Given the description of an element on the screen output the (x, y) to click on. 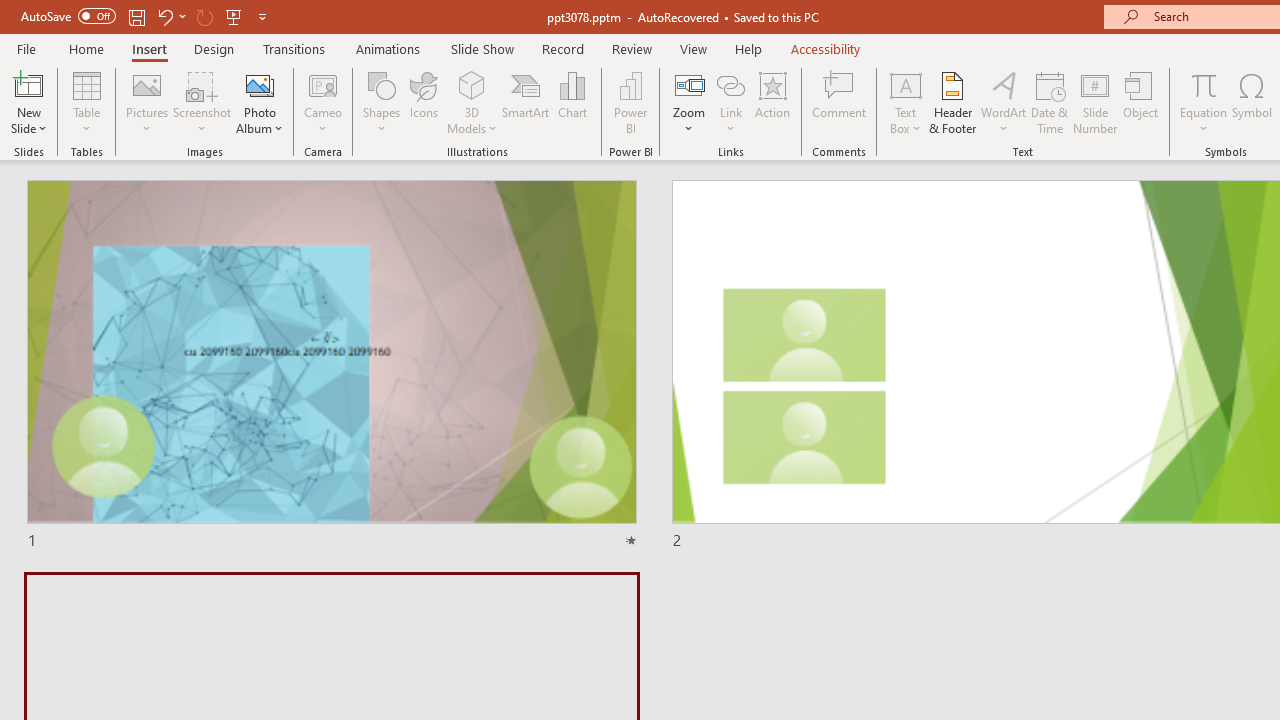
Screenshot (202, 102)
WordArt (1004, 102)
Symbol... (1252, 102)
Chart... (572, 102)
Draw Horizontal Text Box (905, 84)
Table (86, 102)
